Given the description of an element on the screen output the (x, y) to click on. 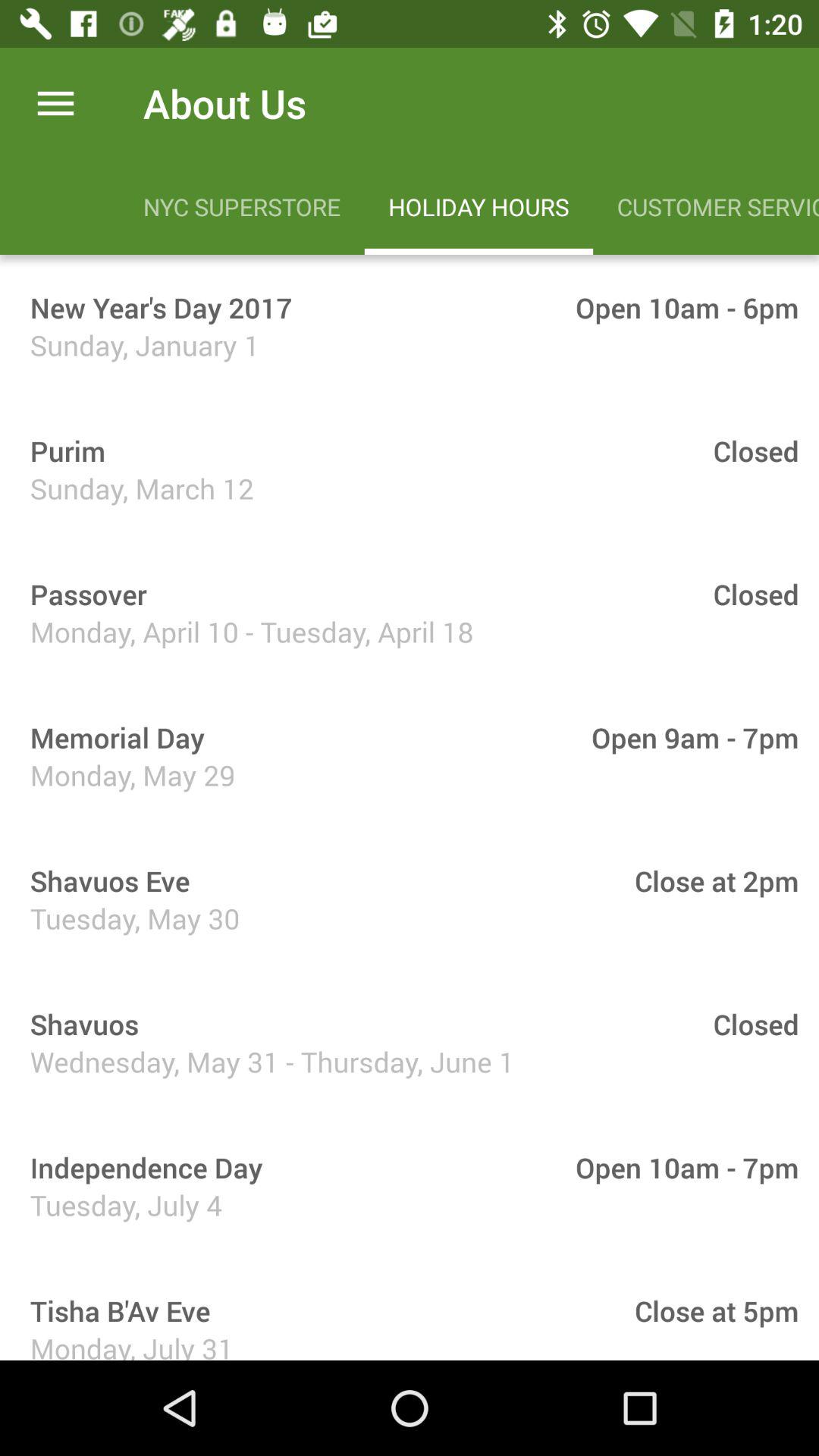
tap the item to the left of the closed (62, 450)
